Given the description of an element on the screen output the (x, y) to click on. 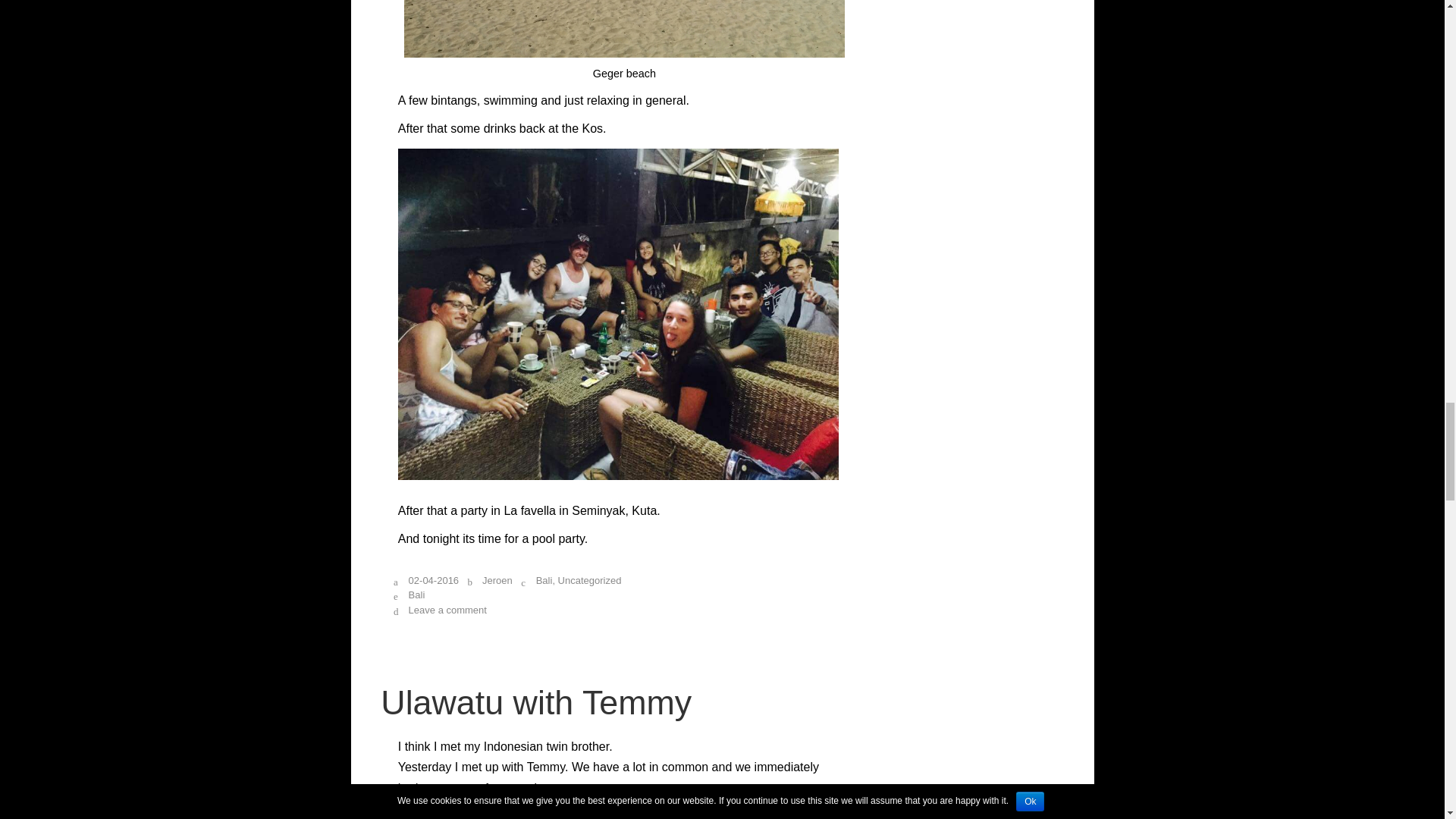
wp-1459594640617 (624, 28)
Bali (544, 580)
wp-1459307952267 (624, 815)
Posts by Jeroen (496, 580)
Bali (419, 594)
Leave a comment (447, 609)
Jeroen (496, 580)
Uncategorized (589, 580)
02-04-2016 (434, 580)
